Given the description of an element on the screen output the (x, y) to click on. 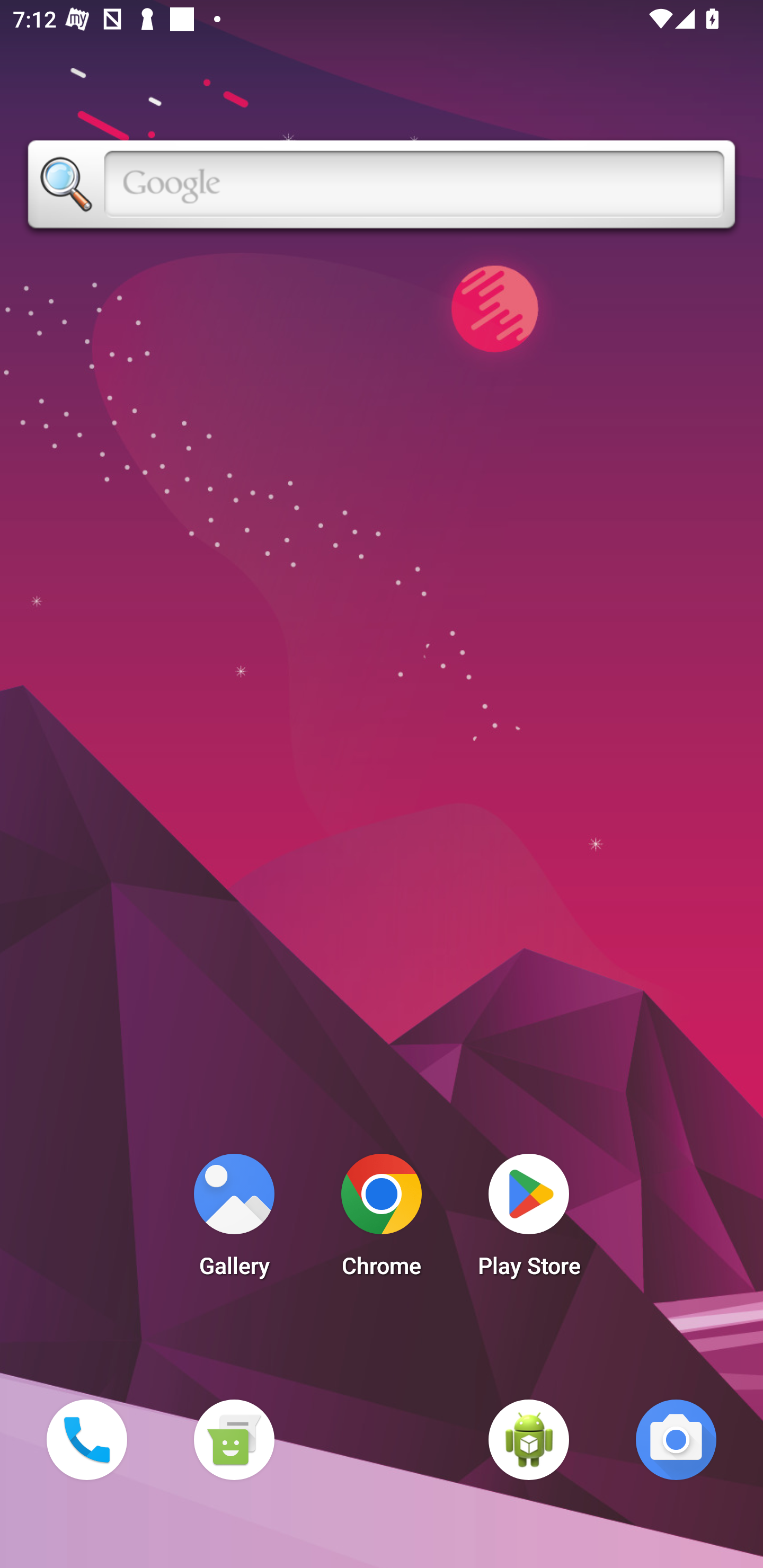
Gallery (233, 1220)
Chrome (381, 1220)
Play Store (528, 1220)
Phone (86, 1439)
Messaging (233, 1439)
WebView Browser Tester (528, 1439)
Camera (676, 1439)
